Given the description of an element on the screen output the (x, y) to click on. 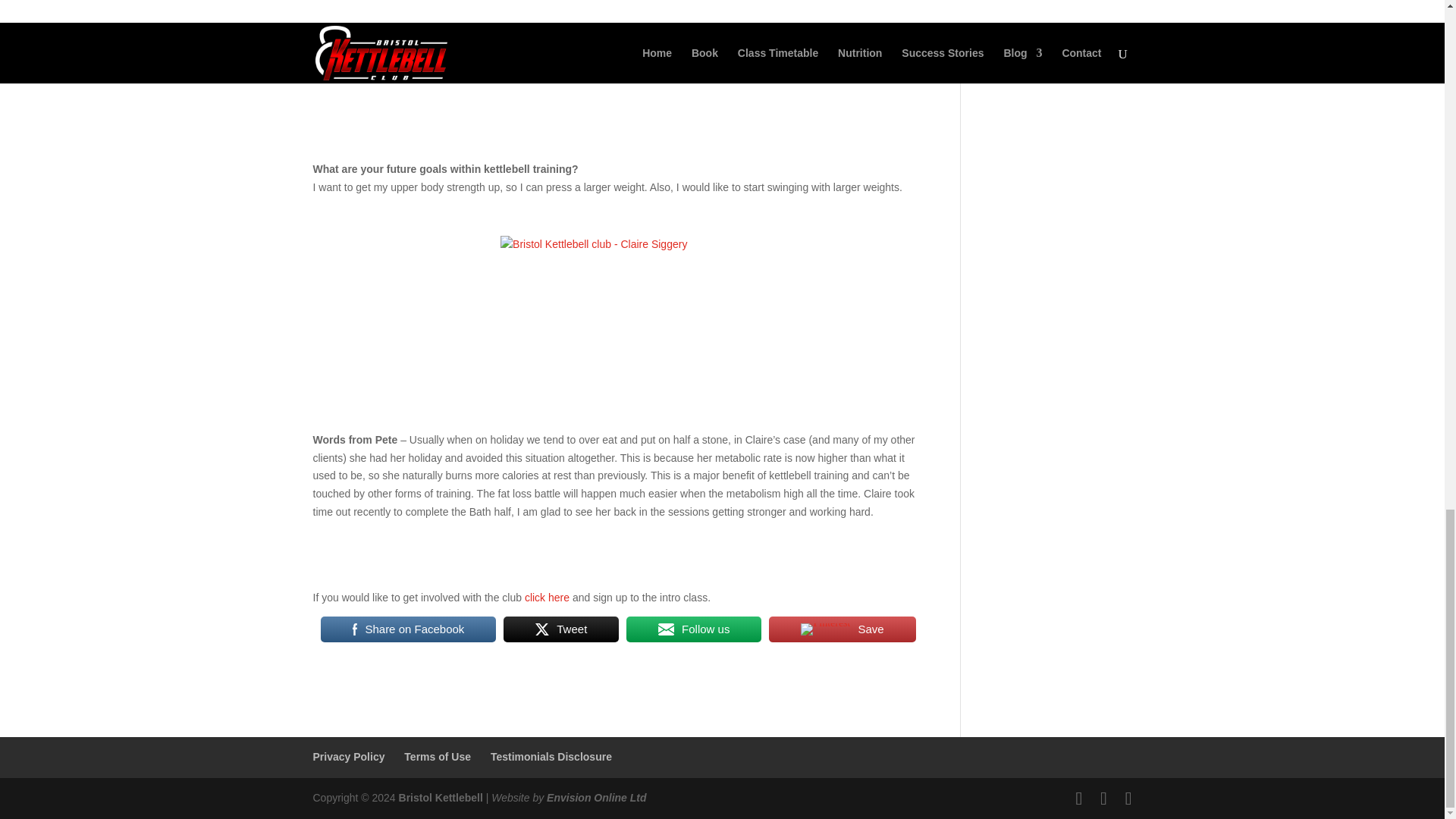
click here (546, 597)
Envision Online Ltd (596, 797)
Tweet (560, 629)
Share on Facebook (408, 629)
Save (841, 629)
Bristol Kettlebell club - Claire Siggery (614, 299)
Bristol Kettlebell club - Claire Siggery (614, 67)
Follow us (693, 629)
